Given the description of an element on the screen output the (x, y) to click on. 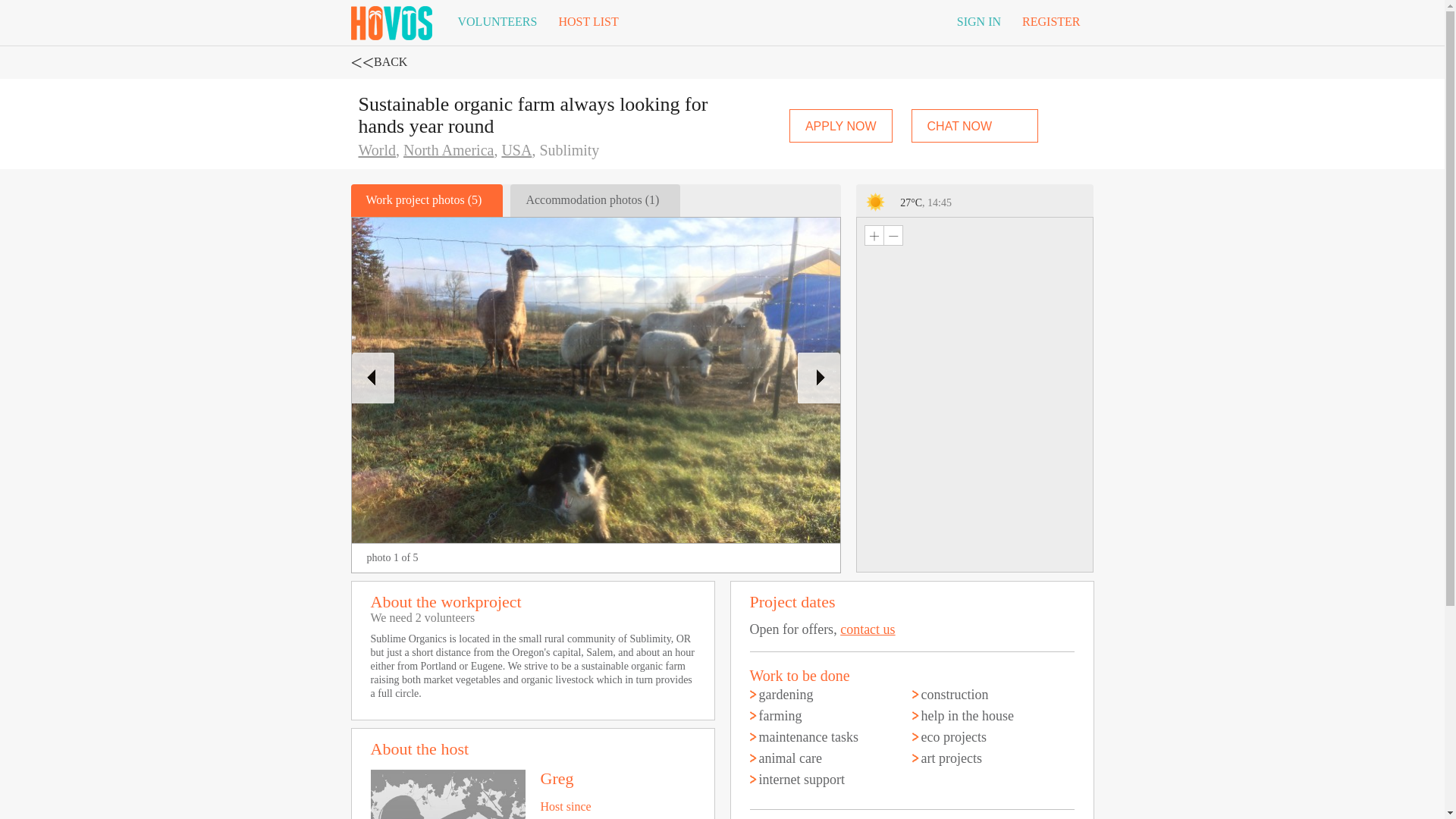
contact us (867, 629)
SIGN IN (978, 22)
VOLUNTEERS (497, 22)
USA (515, 149)
CHAT NOW (975, 125)
World (377, 149)
Hovos (390, 20)
REGISTER (1050, 22)
APPLY NOW (840, 125)
North America (448, 149)
HOST LIST (587, 22)
